Given the description of an element on the screen output the (x, y) to click on. 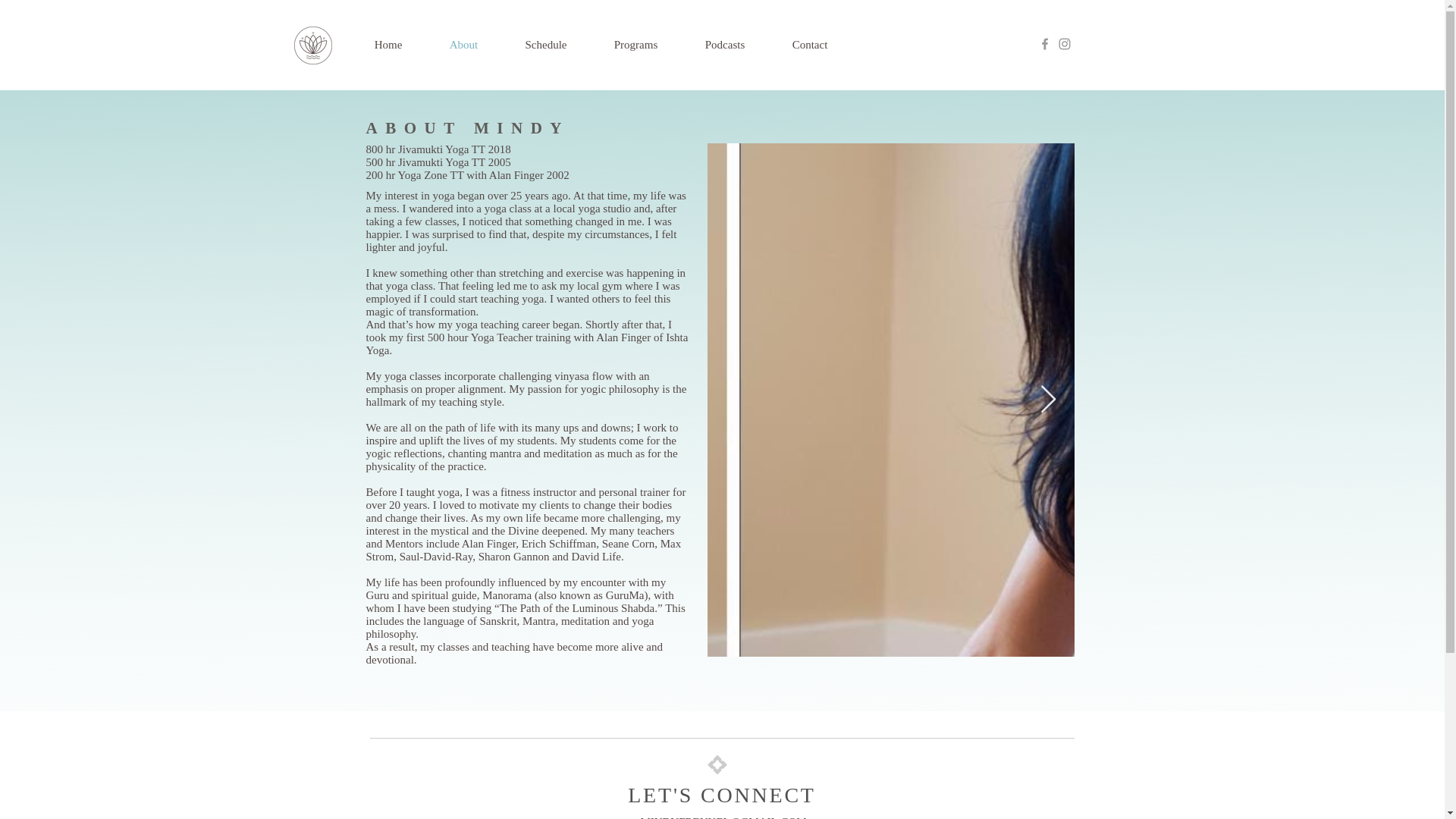
Home (387, 44)
Podcasts (724, 44)
About (464, 44)
Programs (635, 44)
Schedule (546, 44)
Contact (809, 44)
